Given the description of an element on the screen output the (x, y) to click on. 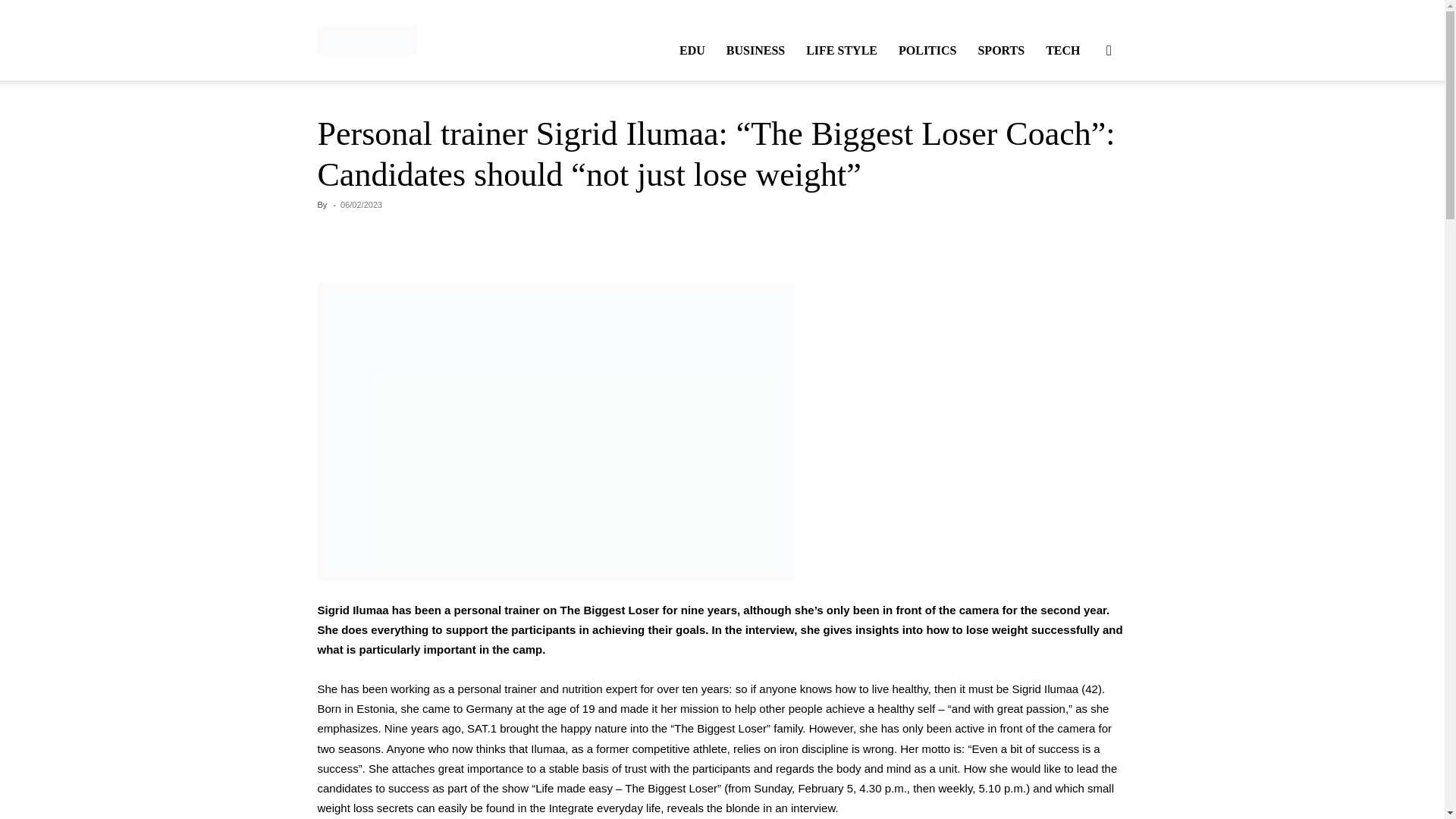
TECH (1062, 50)
Search (1085, 122)
POLITICS (927, 50)
Breaking News (366, 39)
BUSINESS (755, 50)
LIFE STYLE (841, 50)
SPORTS (1000, 50)
